Given the description of an element on the screen output the (x, y) to click on. 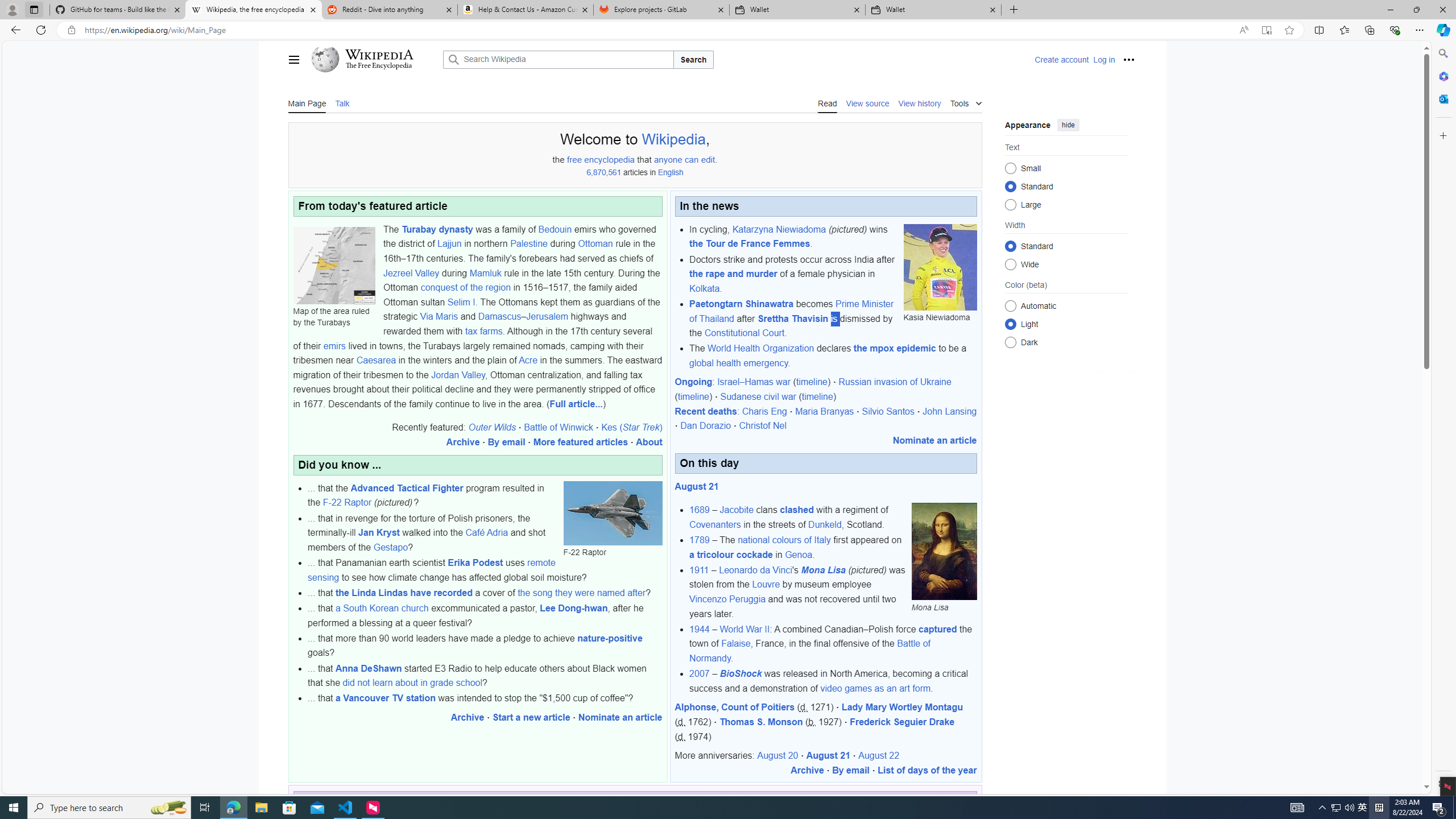
Nominate an article (934, 439)
Kes (Star Trek) (631, 427)
Dan Dorazio (704, 425)
August 22 (878, 755)
Battle of Winwick (558, 427)
Create account (1062, 58)
Damascus (499, 316)
remote sensing (431, 569)
August 21 (828, 755)
Ottoman (595, 243)
Palestine (528, 243)
